Given the description of an element on the screen output the (x, y) to click on. 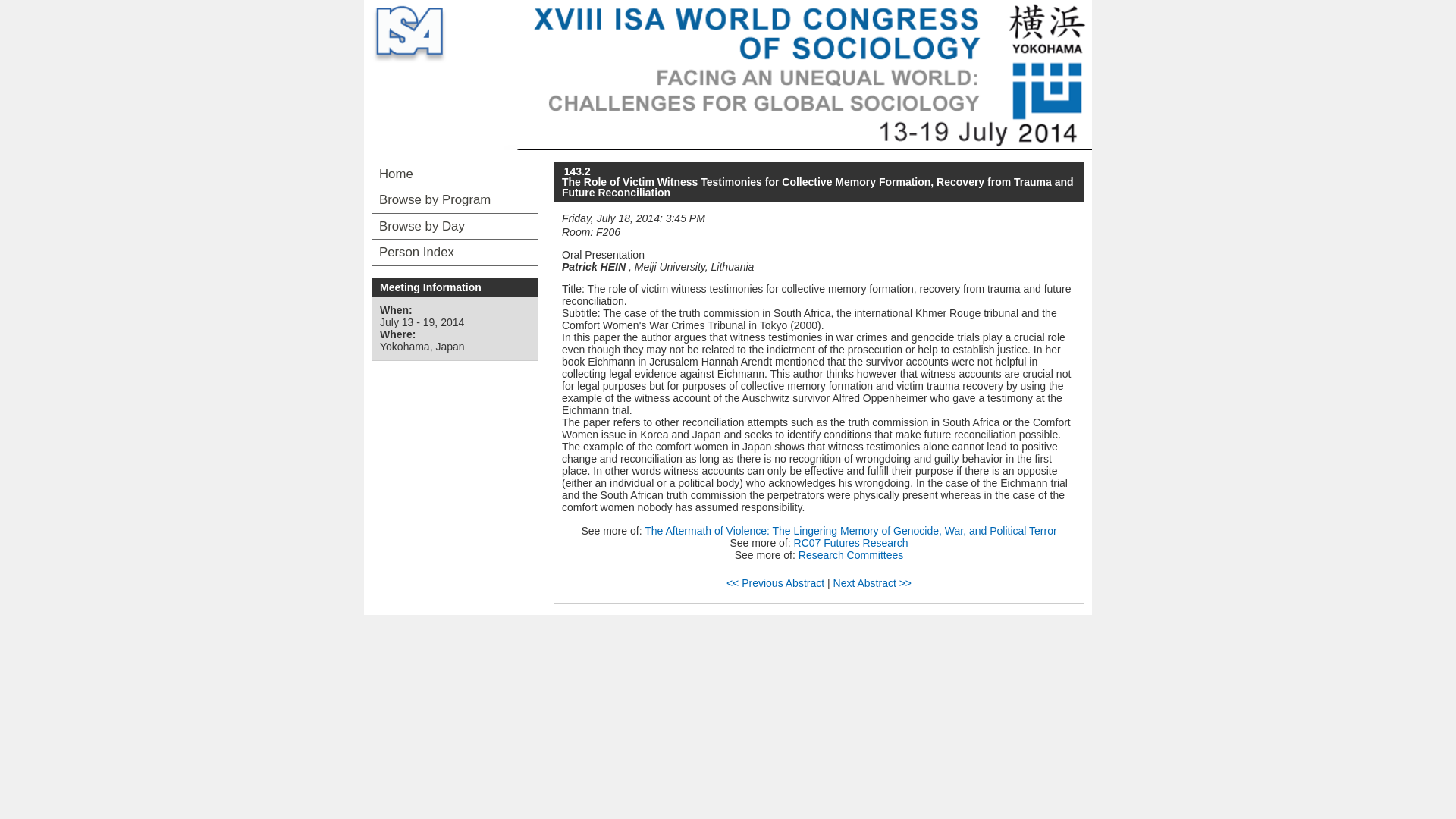
Person Index (454, 252)
Browse by Day (454, 226)
Browse by Program (454, 199)
Research Committees (850, 554)
Home (454, 174)
RC07 Futures Research (850, 542)
